Given the description of an element on the screen output the (x, y) to click on. 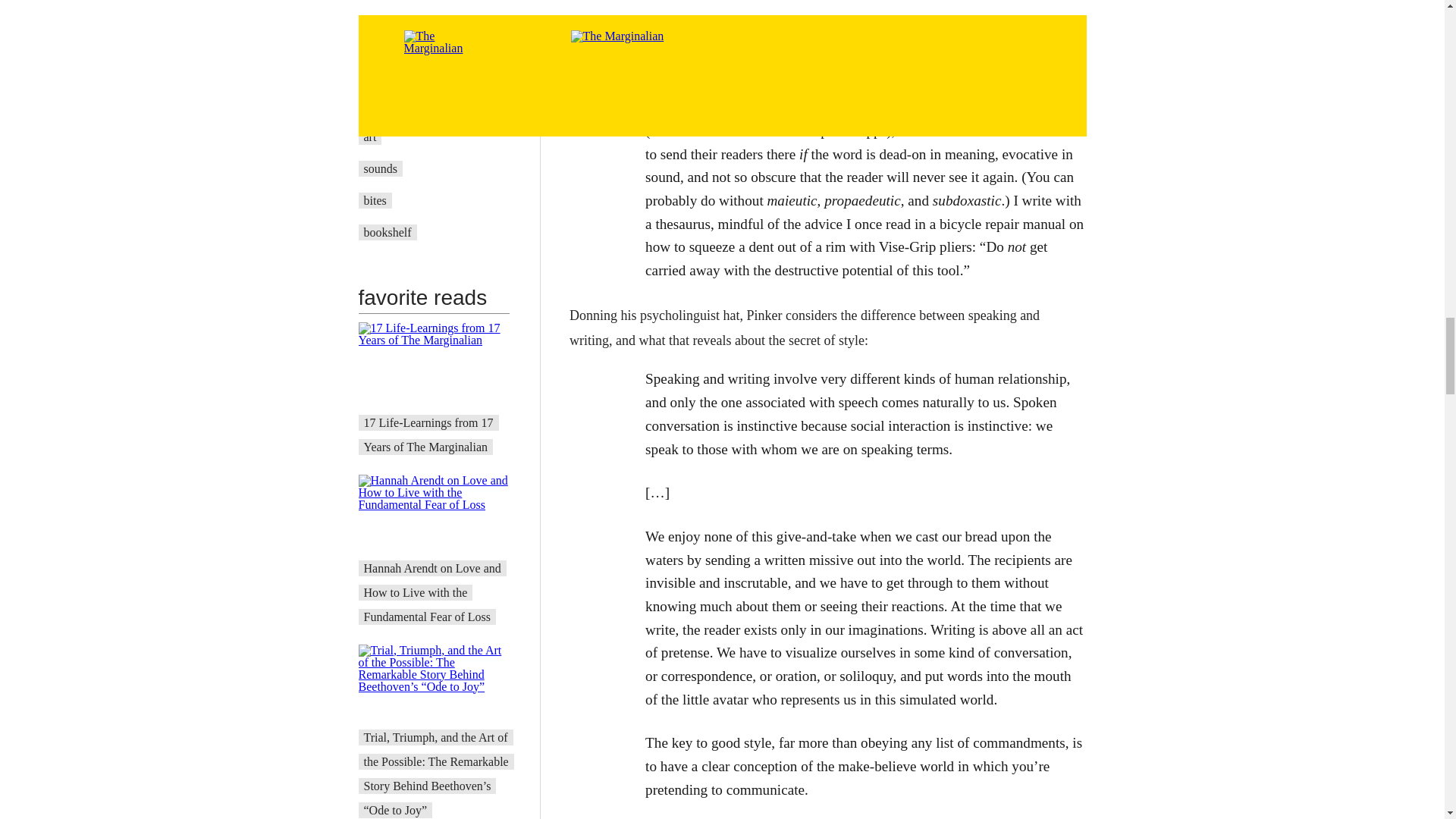
art (370, 136)
sounds (380, 168)
bites (375, 200)
A Velocity of Being (412, 105)
